Given the description of an element on the screen output the (x, y) to click on. 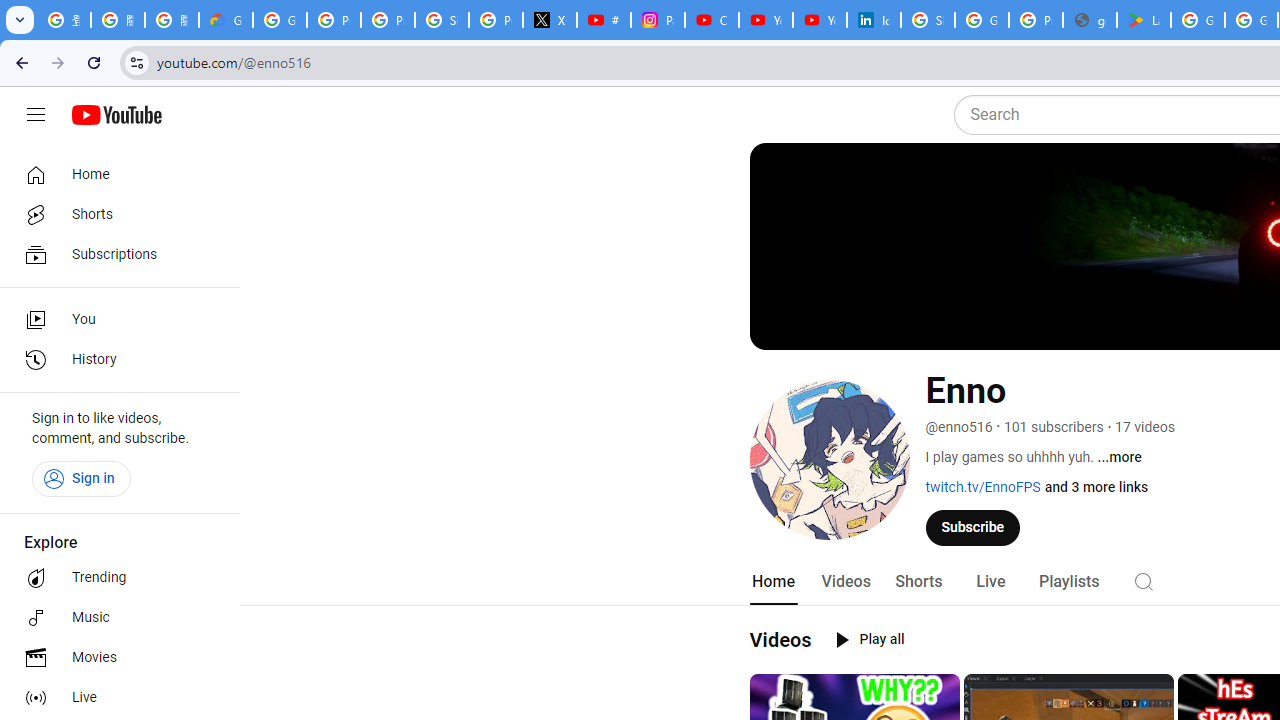
Home (772, 581)
X (550, 20)
History (113, 359)
Music (113, 617)
Sign in - Google Accounts (441, 20)
Shorts (113, 214)
YouTube Culture & Trends - YouTube Top 10, 2021 (819, 20)
Guide (35, 115)
google_privacy_policy_en.pdf (1089, 20)
Description. I play games so uhhhh yuh....tap for more. (1118, 457)
Play all (870, 640)
